Given the description of an element on the screen output the (x, y) to click on. 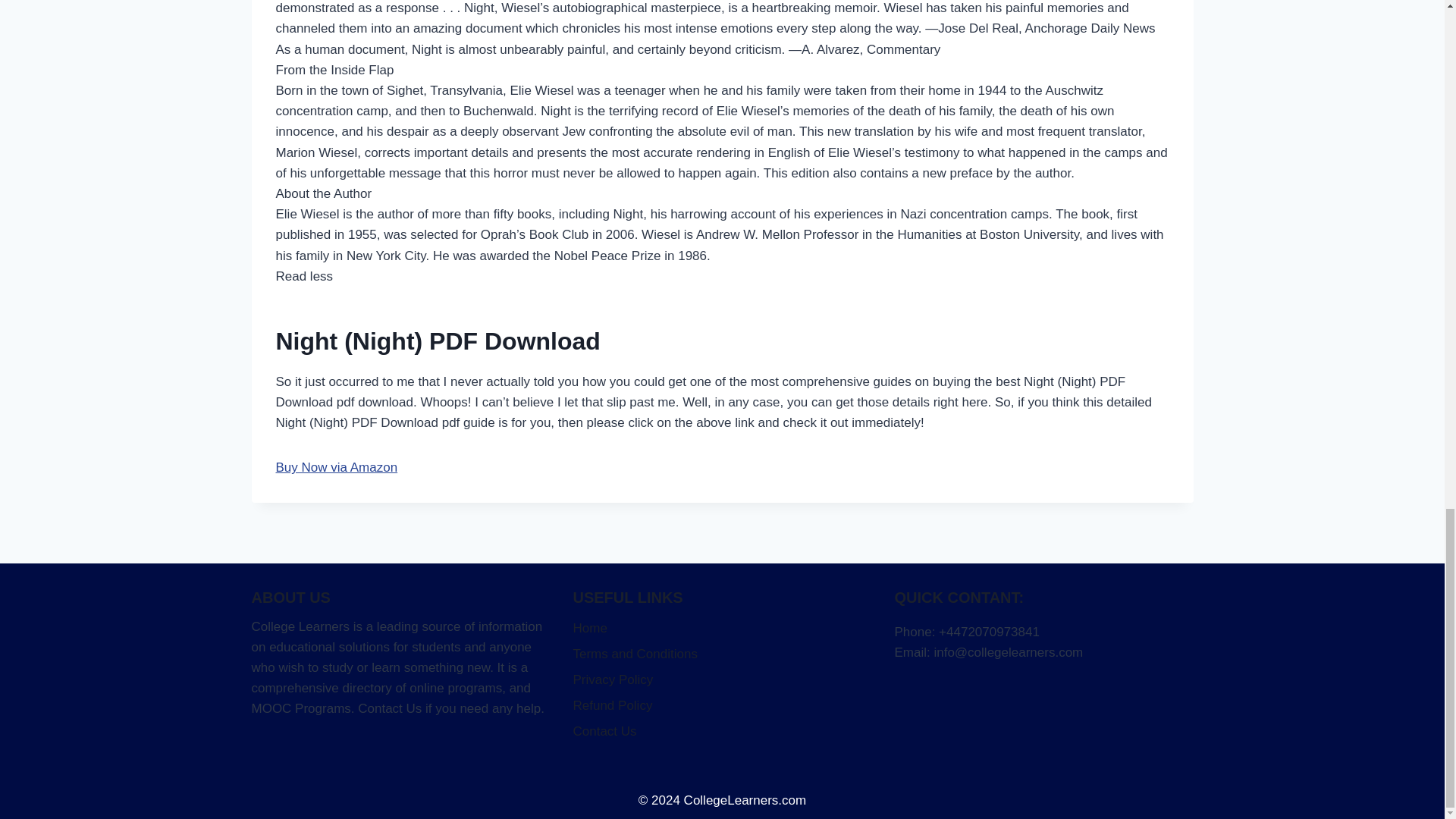
Privacy Policy (722, 680)
Contact Us (722, 732)
Terms and Conditions (722, 655)
Refund Policy (722, 706)
Home (722, 629)
Buy Now via Amazon (336, 467)
